Given the description of an element on the screen output the (x, y) to click on. 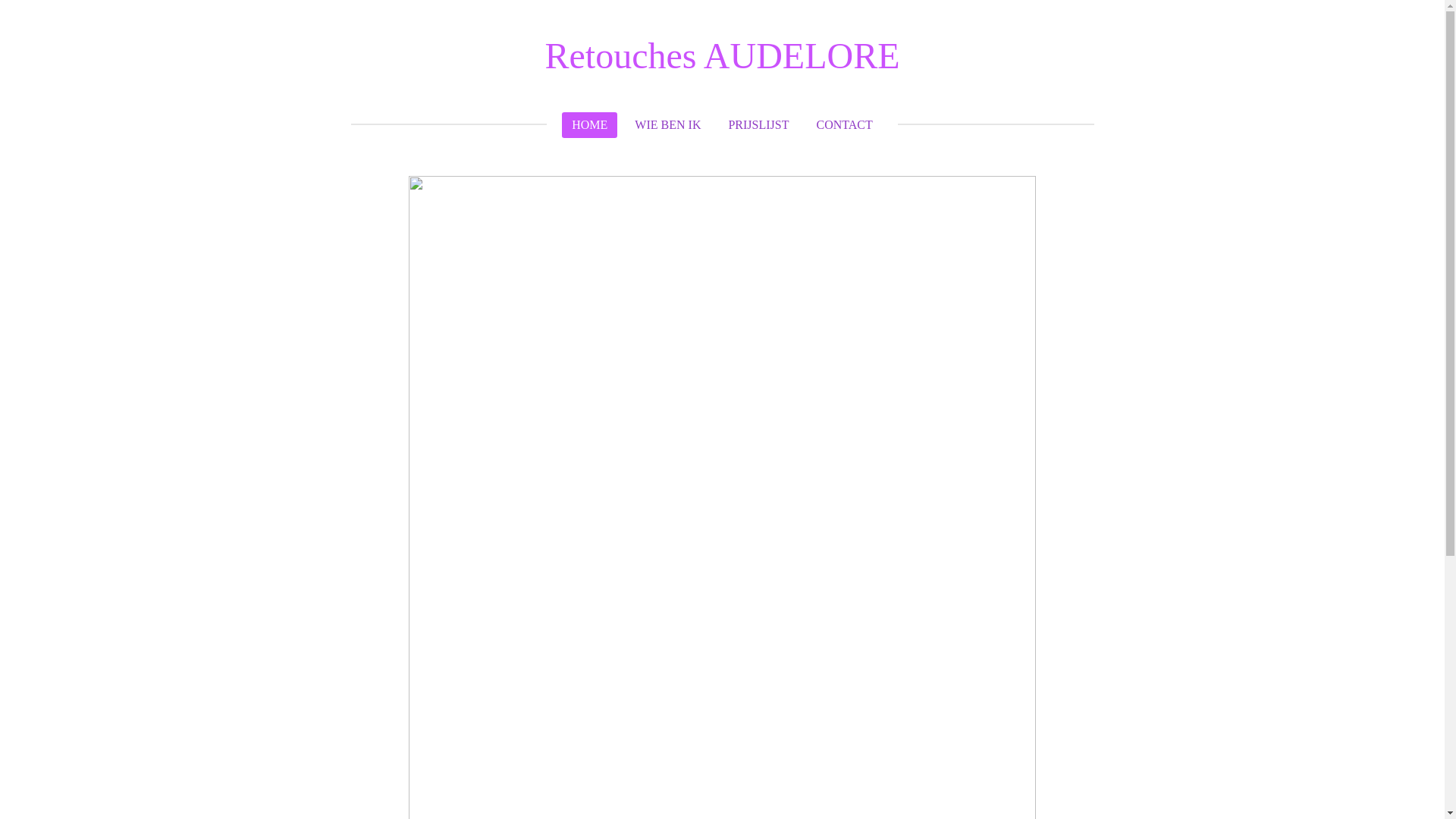
PRIJSLIJST Element type: text (758, 125)
WIE BEN IK Element type: text (667, 125)
CONTACT Element type: text (843, 125)
HOME Element type: text (589, 125)
